Given the description of an element on the screen output the (x, y) to click on. 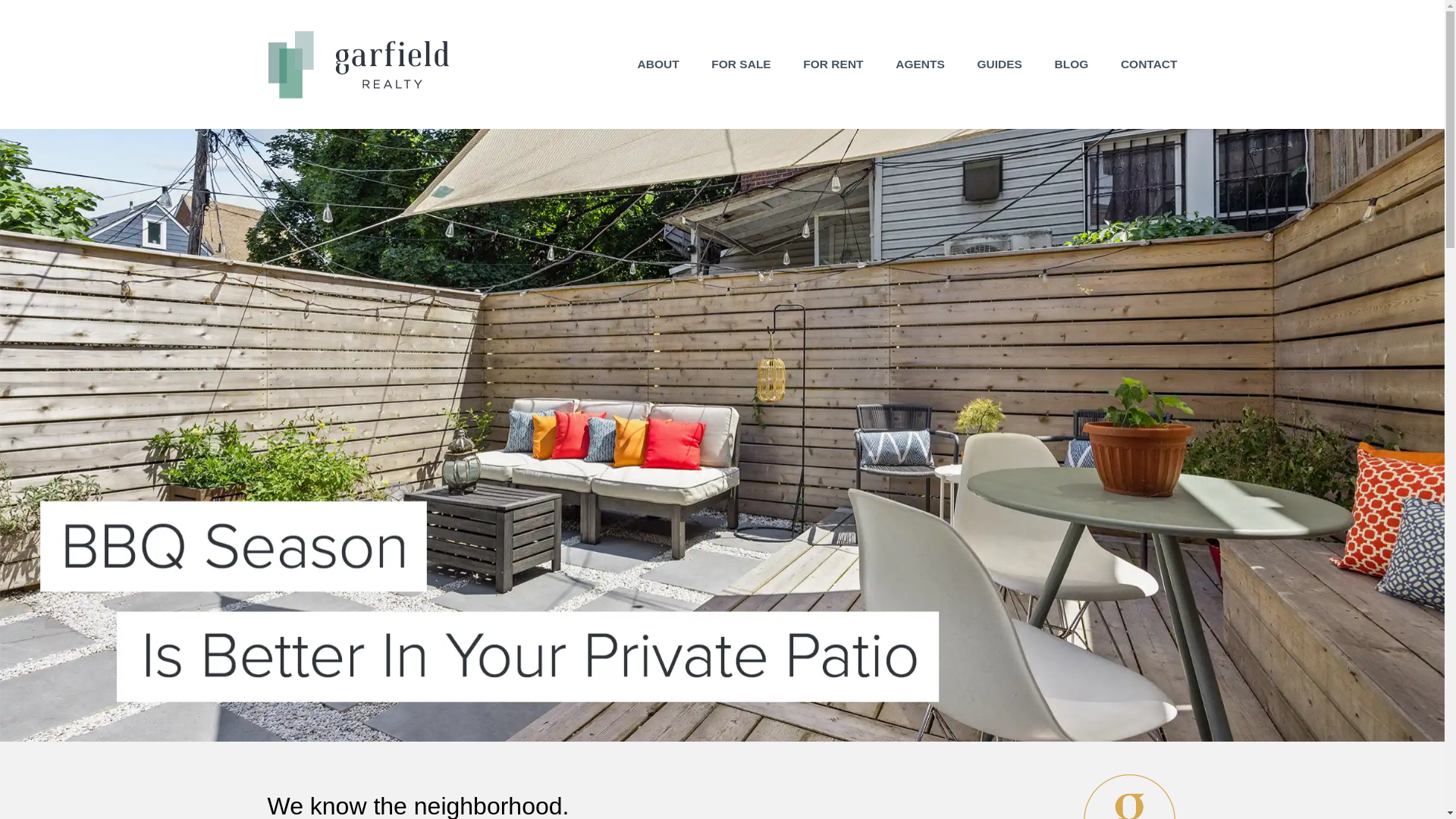
AGENTS (919, 63)
ABOUT (658, 63)
GUIDES (999, 63)
BLOG (1070, 63)
CONTACT (1149, 63)
FOR SALE (740, 63)
FOR RENT (833, 63)
